Given the description of an element on the screen output the (x, y) to click on. 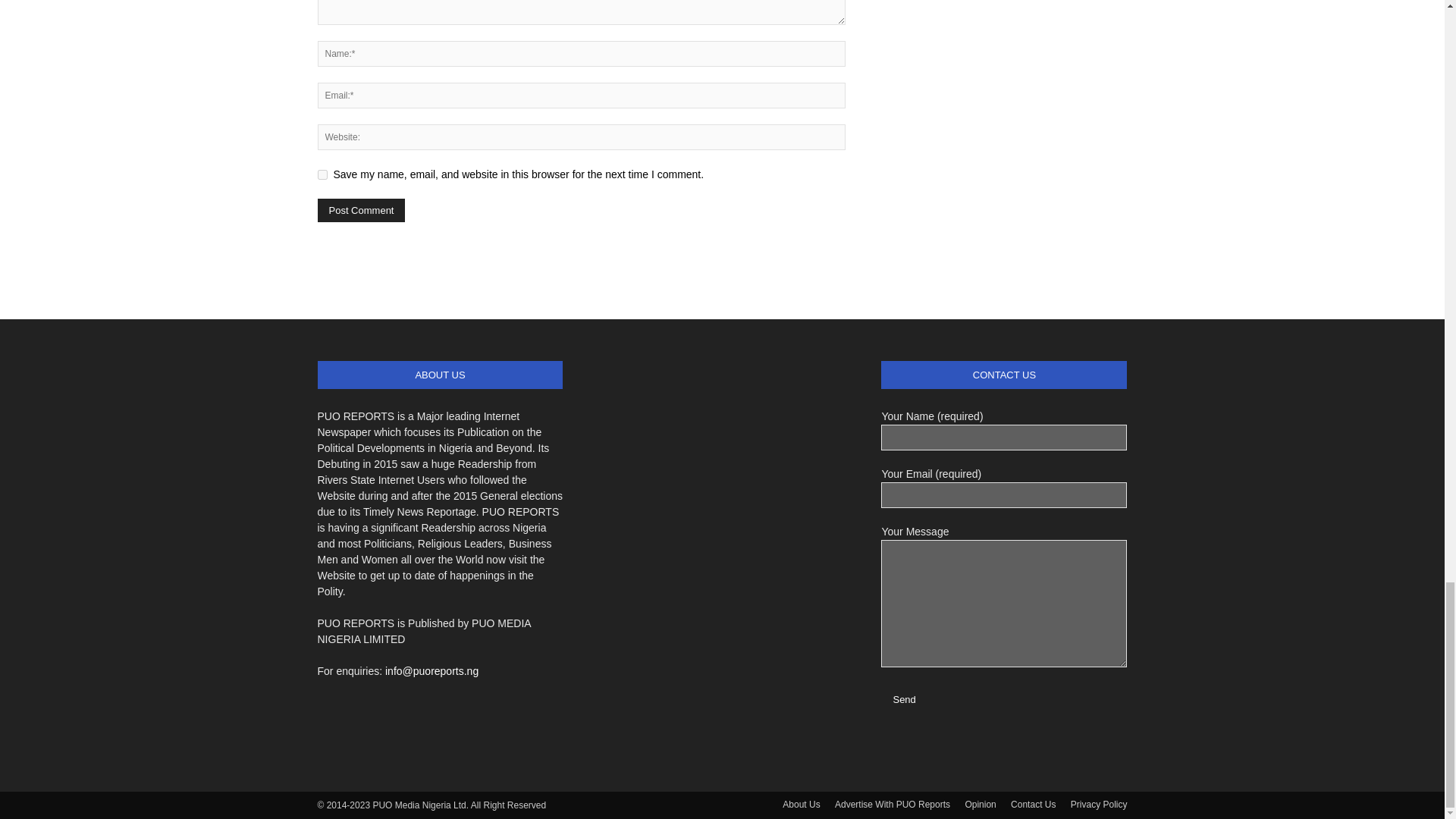
Send (903, 699)
Post Comment (360, 210)
yes (321, 174)
